Given the description of an element on the screen output the (x, y) to click on. 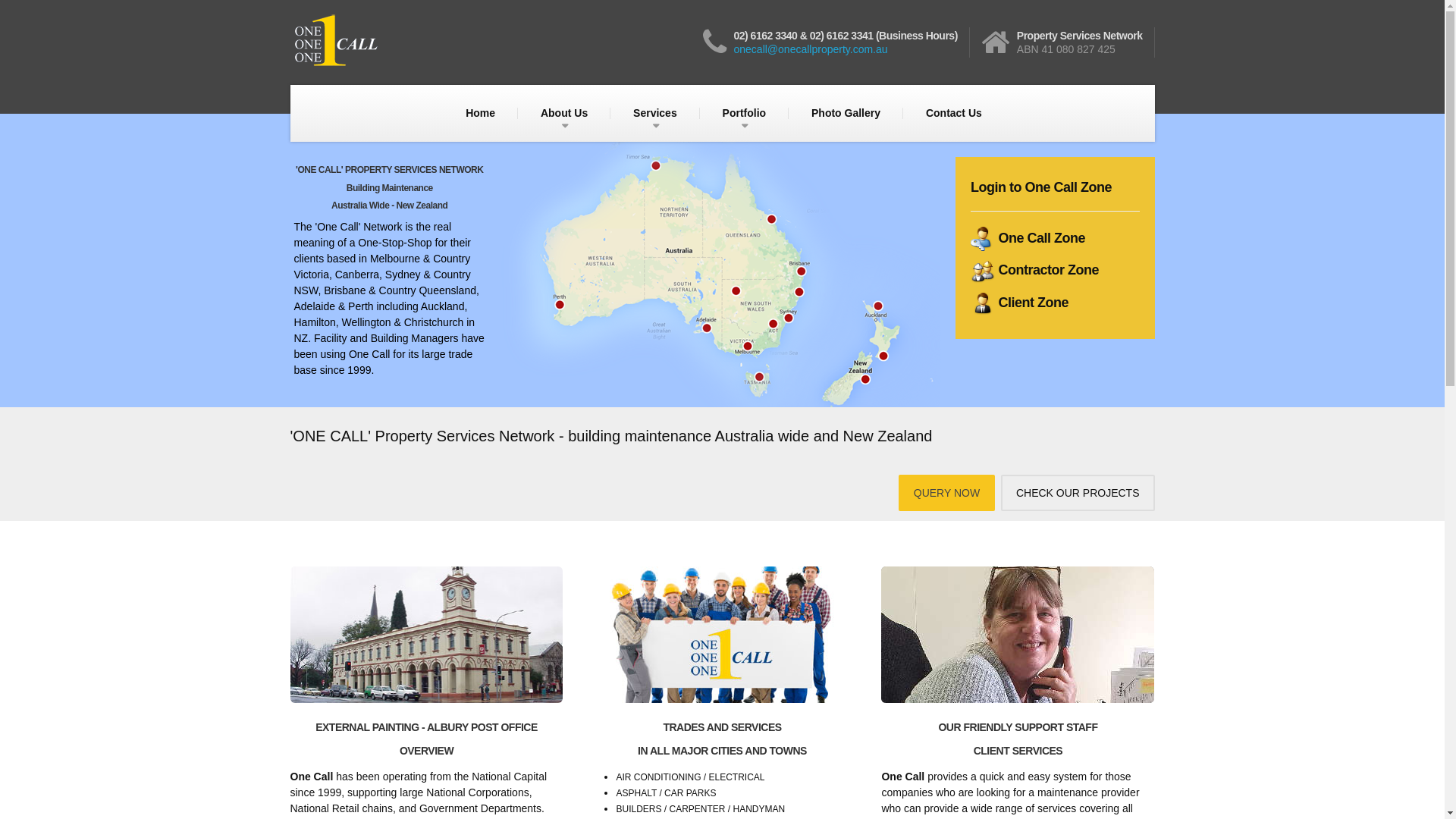
Client Zone Element type: text (1019, 302)
Contact Us Element type: text (953, 112)
One Call Zone Element type: text (1027, 237)
QUERY NOW Element type: text (946, 492)
onecall@onecallproperty.com.au Element type: text (811, 49)
TRADES AND SERVICES

IN ALL MAJOR CITIES AND TOWNS Element type: text (721, 738)
Portfolio Element type: text (744, 112)
CHECK OUR PROJECTS Element type: text (1077, 492)
Services Element type: text (654, 112)
About Us Element type: text (563, 112)
Home Element type: text (479, 112)
EXTERNAL PAINTING - ALBURY POST OFFICE

OVERVIEW Element type: text (426, 738)
Photo Gallery Element type: text (845, 112)
OUR FRIENDLY SUPPORT STAFF

CLIENT SERVICES Element type: text (1017, 738)
Contractor Zone Element type: text (1034, 269)
